Given the description of an element on the screen output the (x, y) to click on. 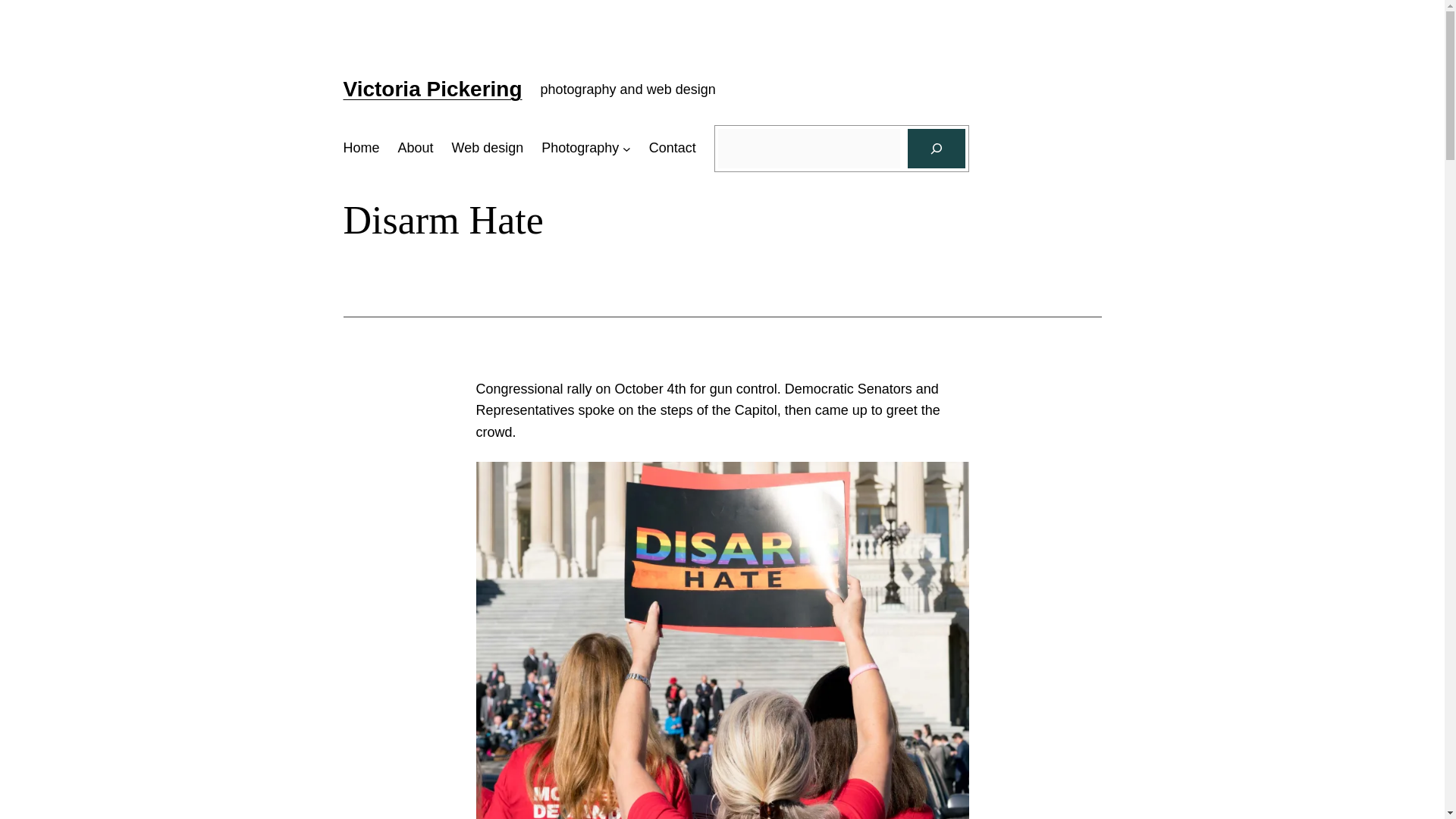
Victoria Pickering (431, 88)
About (415, 147)
Home (360, 147)
Web design (487, 147)
Contact (672, 147)
Photography (579, 147)
